Given the description of an element on the screen output the (x, y) to click on. 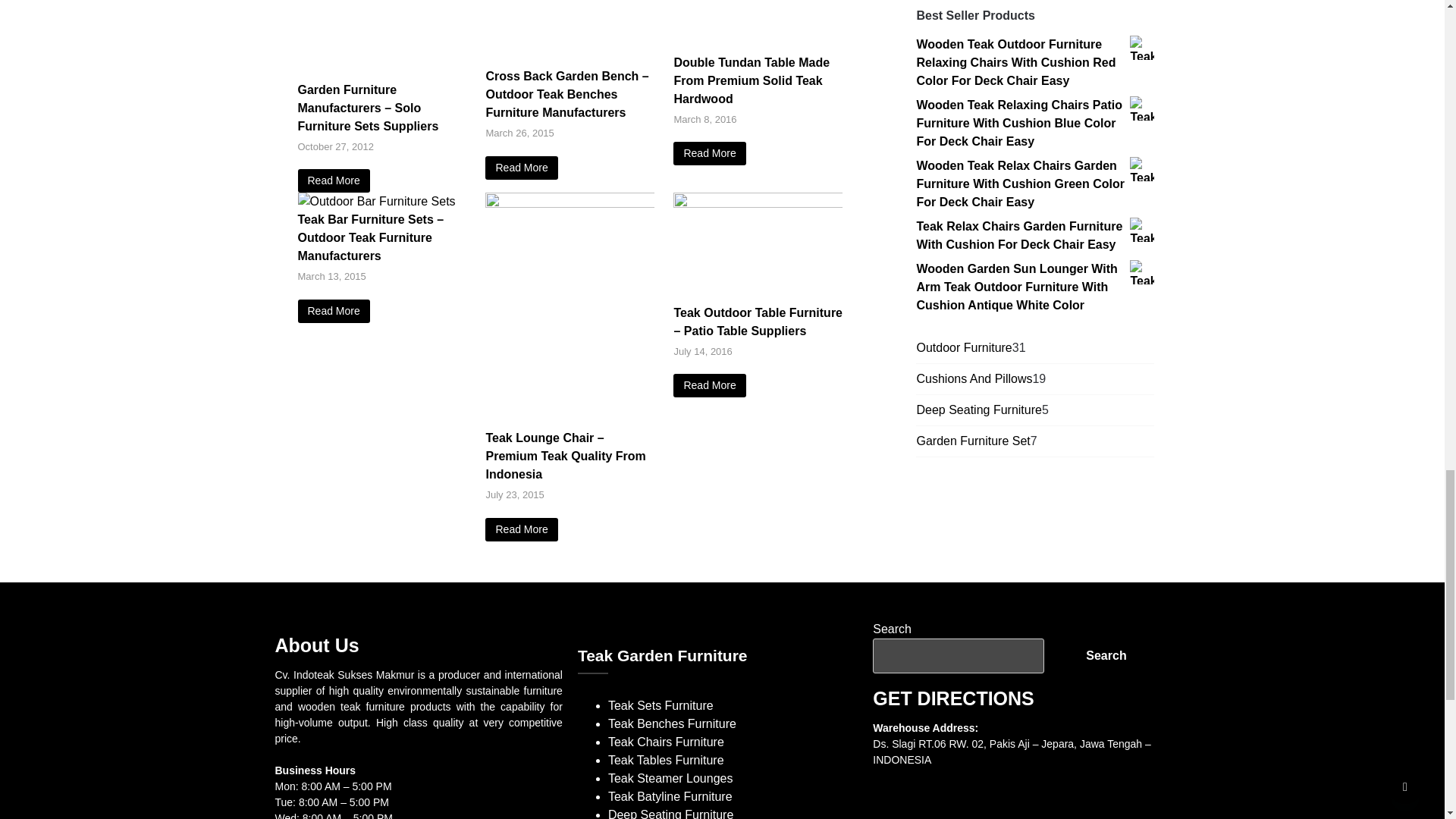
Double Tundan Table Made From Premium Solid Teak Hardwood (708, 153)
Read More (333, 180)
